Given the description of an element on the screen output the (x, y) to click on. 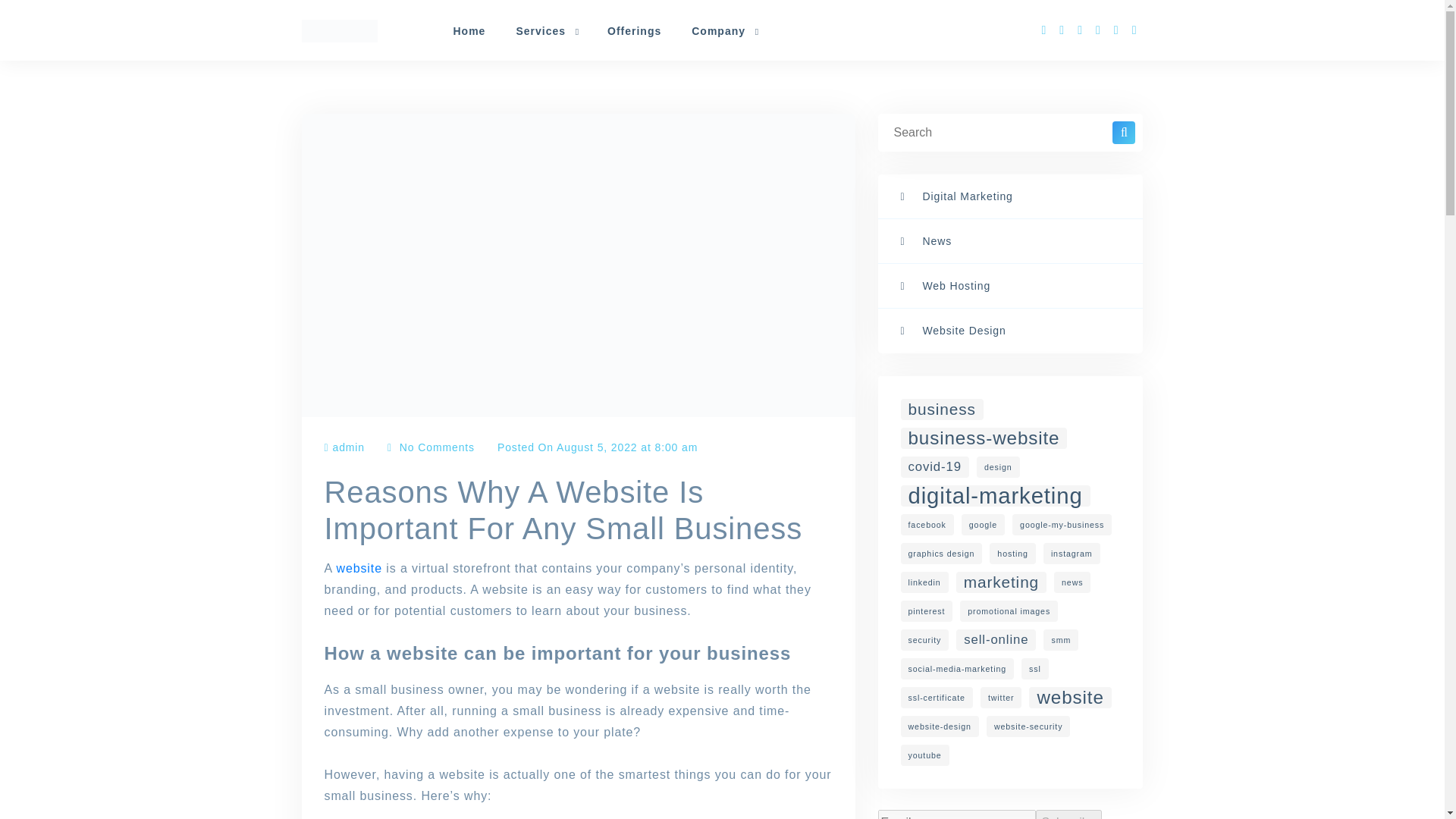
website (358, 567)
Website Design (1009, 330)
graphics design (941, 553)
News (1009, 241)
business (942, 409)
design (998, 466)
Posts by admin (348, 447)
Digital Marketing (1009, 196)
google (982, 524)
google-my-business (1061, 524)
